Given the description of an element on the screen output the (x, y) to click on. 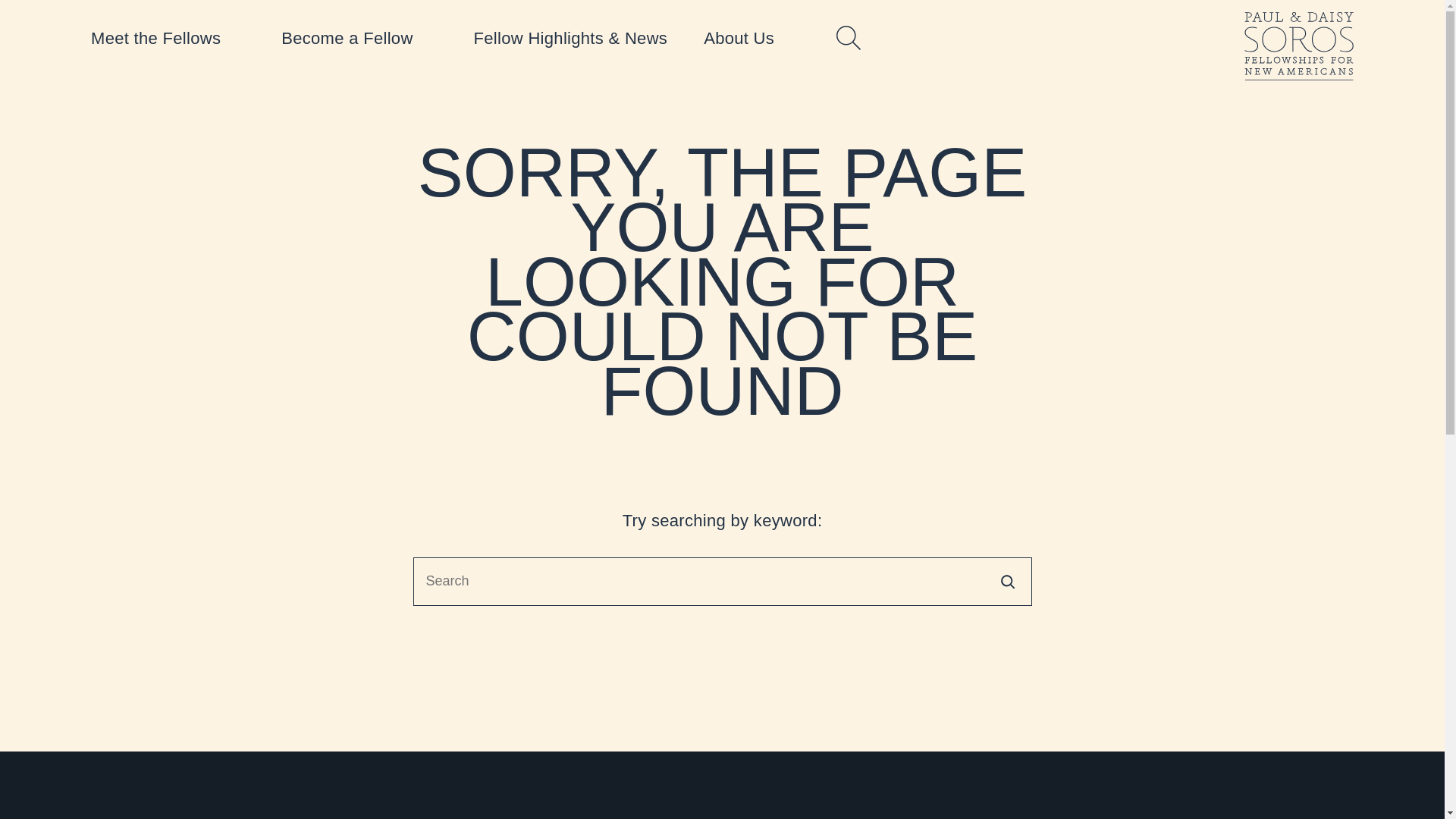
Become a Fellow (358, 38)
Toggle Sub-Menu (358, 38)
Meet the Fellows (167, 38)
About Us (750, 38)
Toggle Sub-Menu (750, 38)
Toggle Sub-Menu (167, 38)
